Given the description of an element on the screen output the (x, y) to click on. 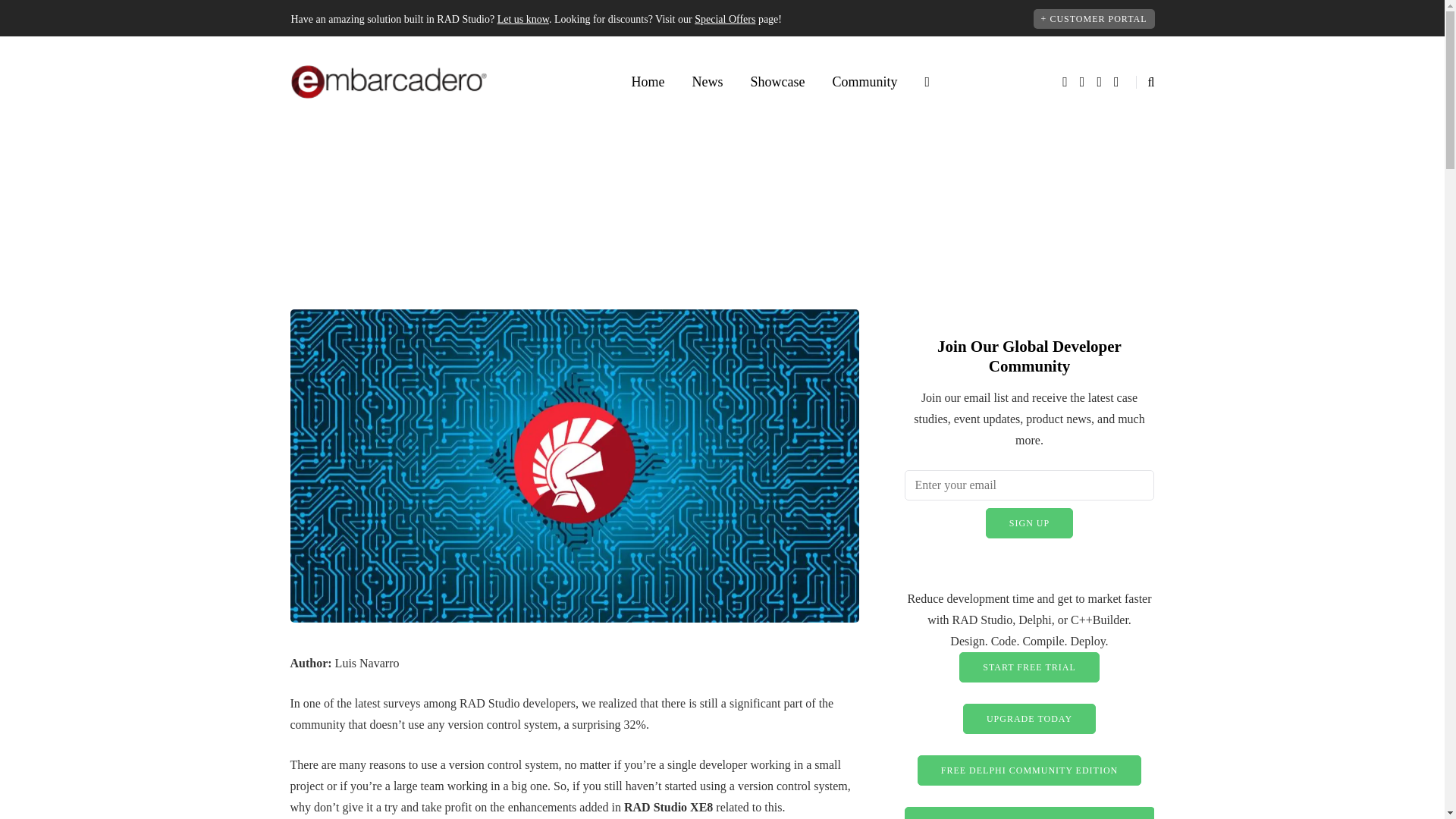
Special Offers (724, 19)
Community (864, 81)
Showcase (777, 81)
Let us know (522, 19)
News (707, 81)
Search (43, 15)
Home (647, 81)
